Given the description of an element on the screen output the (x, y) to click on. 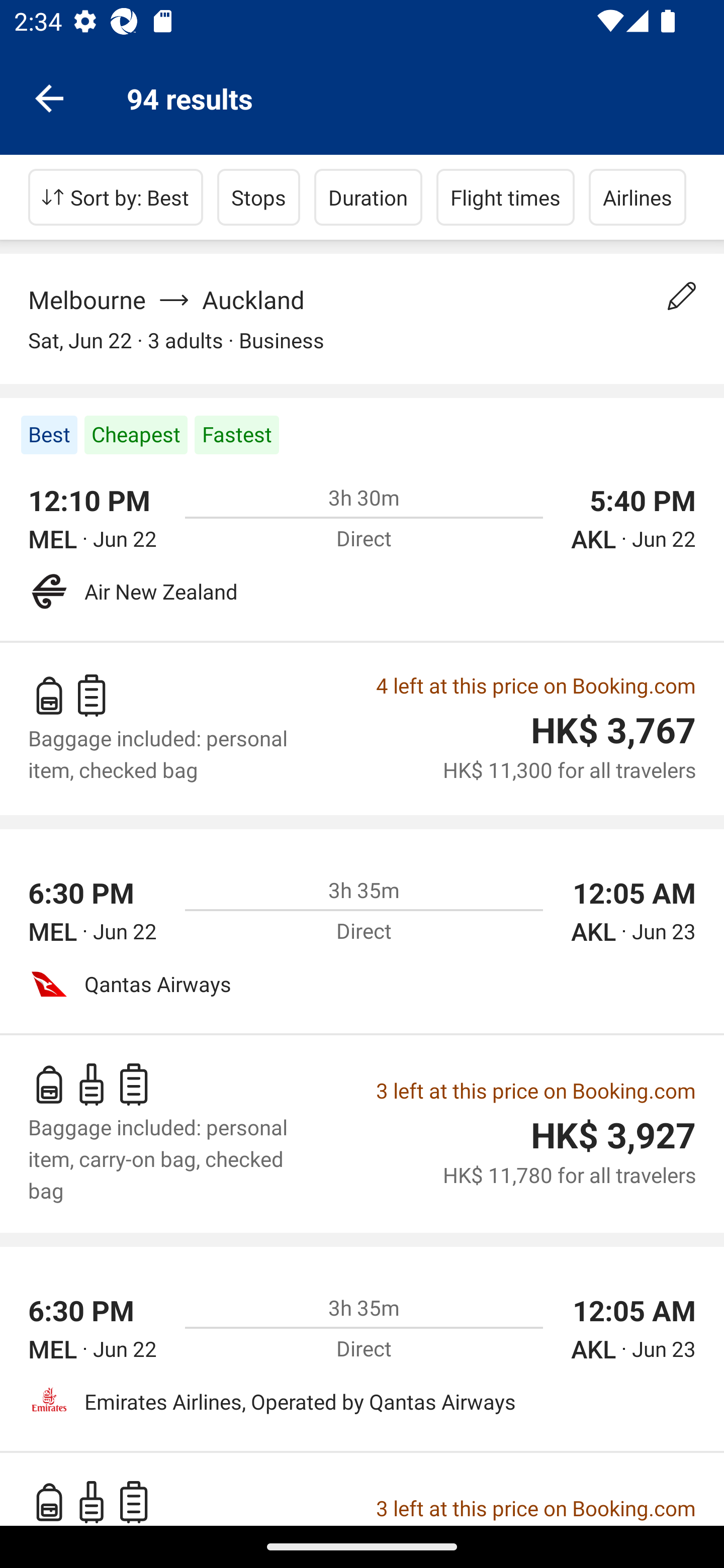
Navigate up (49, 97)
Sort by: Best (115, 197)
Stops (258, 197)
Duration (368, 197)
Flight times (505, 197)
Airlines (637, 197)
Change your search details (681, 296)
HK$ 3,767 (612, 730)
HK$ 3,927 (612, 1135)
